Given the description of an element on the screen output the (x, y) to click on. 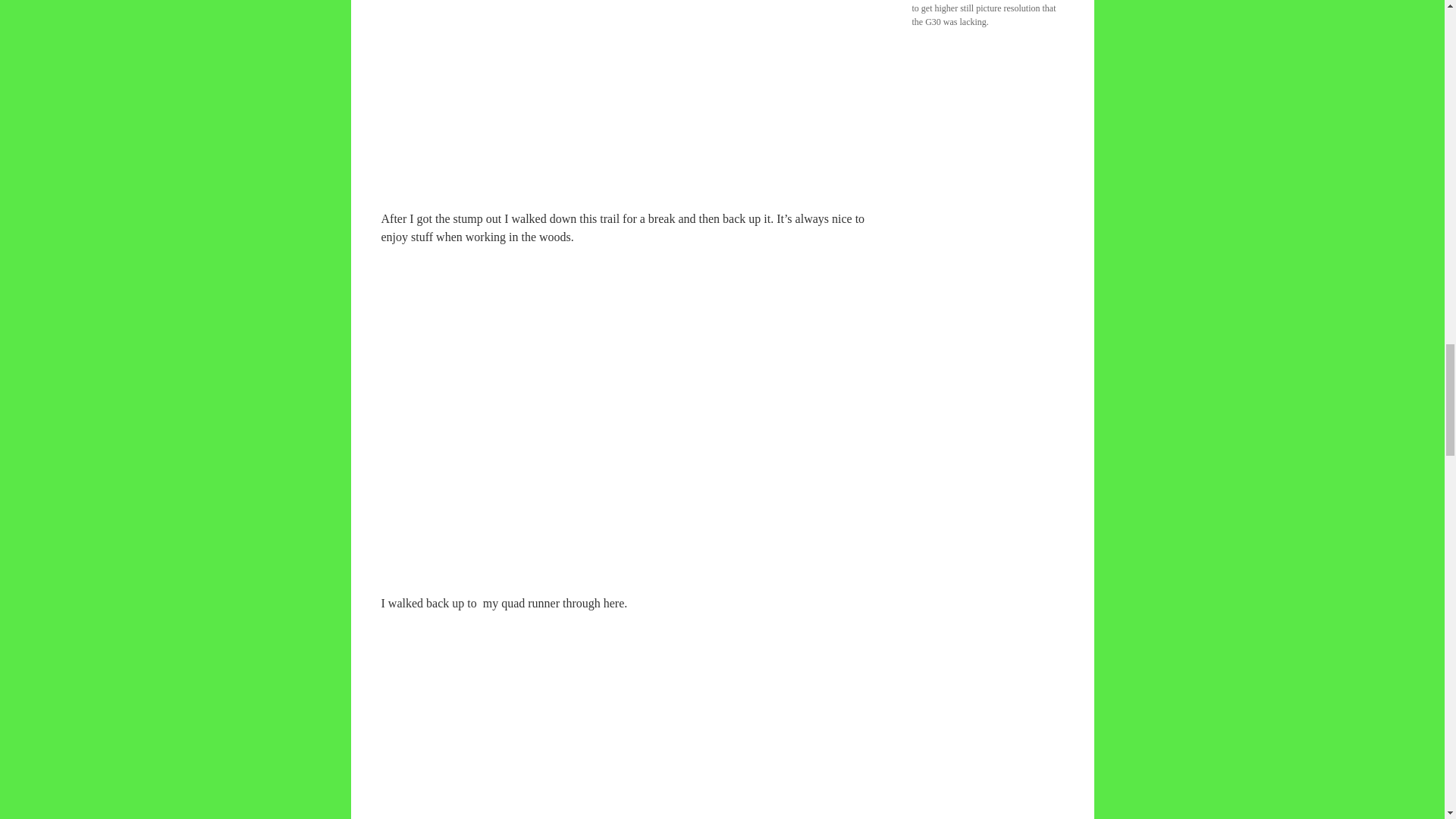
fall3 (630, 74)
woods5 (630, 715)
